Given the description of an element on the screen output the (x, y) to click on. 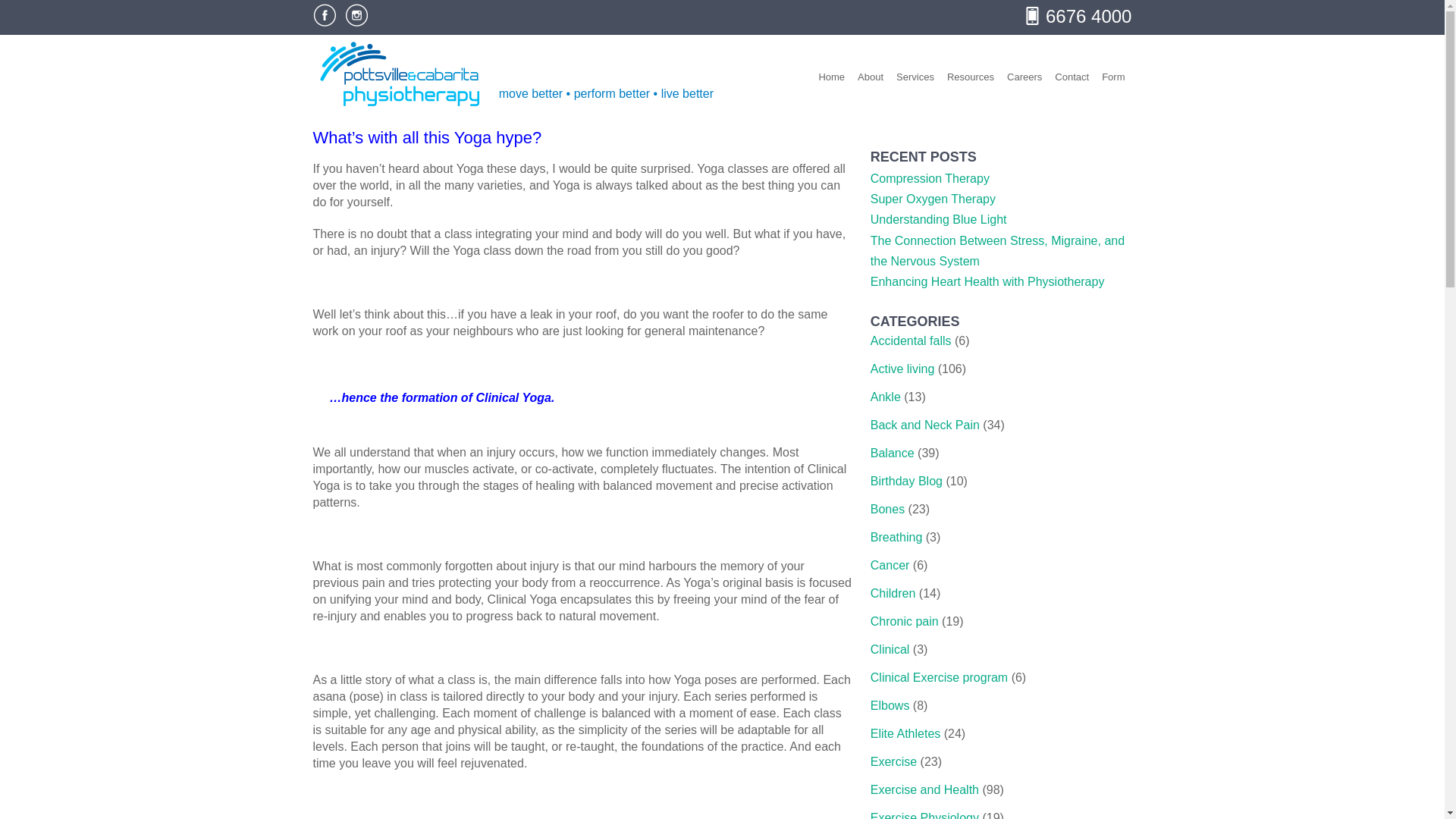
Back and Neck Pain (924, 424)
Active living (902, 368)
Enhancing Heart Health with Physiotherapy (987, 281)
Understanding Blue Light (938, 219)
Ankle (885, 396)
Super Oxygen Therapy (932, 198)
Compression Therapy (930, 178)
Accidental falls (911, 340)
